Given the description of an element on the screen output the (x, y) to click on. 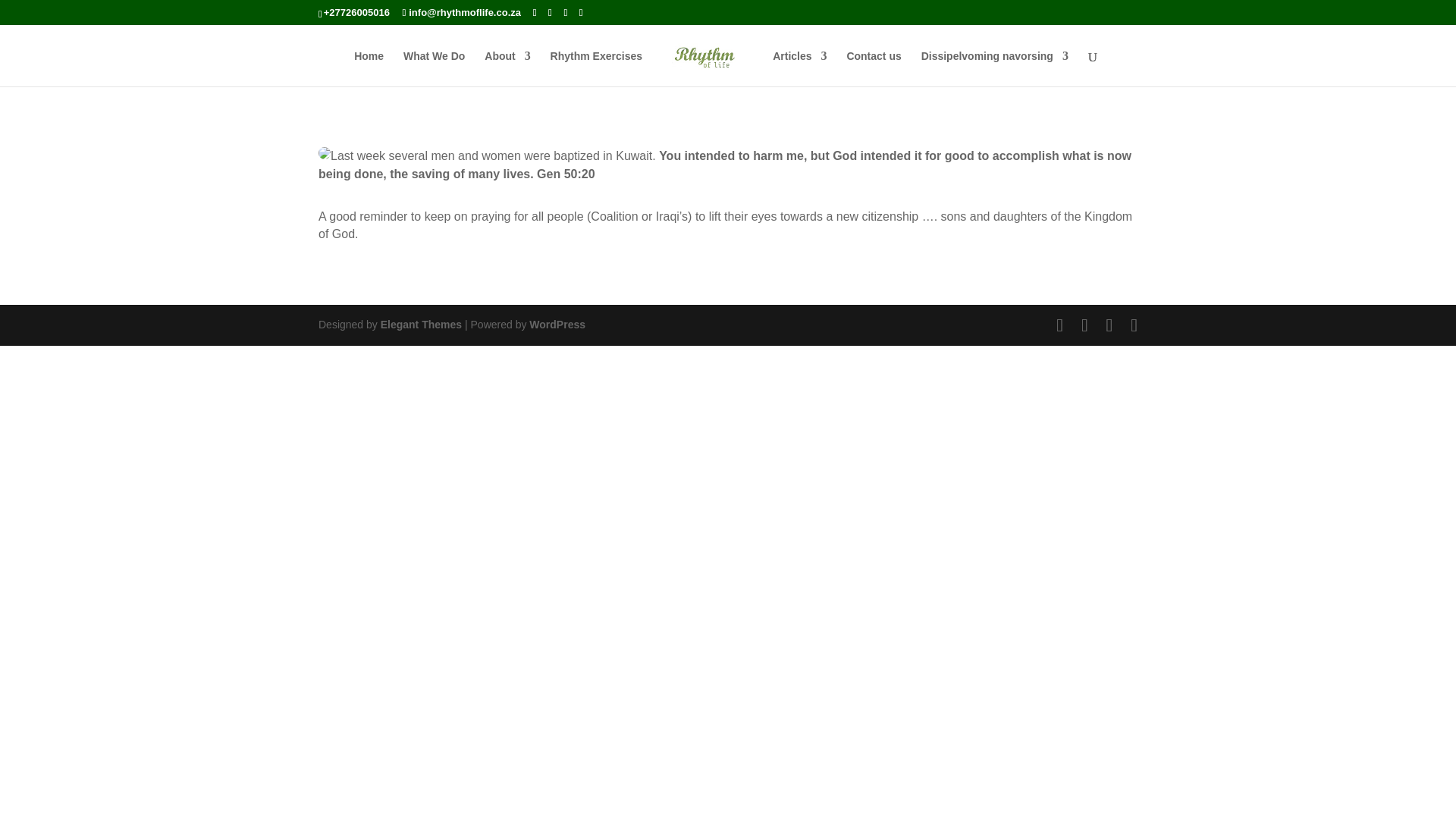
Articles (800, 67)
Rhythm Exercises (596, 67)
What We Do (433, 67)
Premium WordPress Themes (420, 324)
Contact us (873, 67)
About (506, 67)
Dissipelvoming navorsing (994, 67)
